Given the description of an element on the screen output the (x, y) to click on. 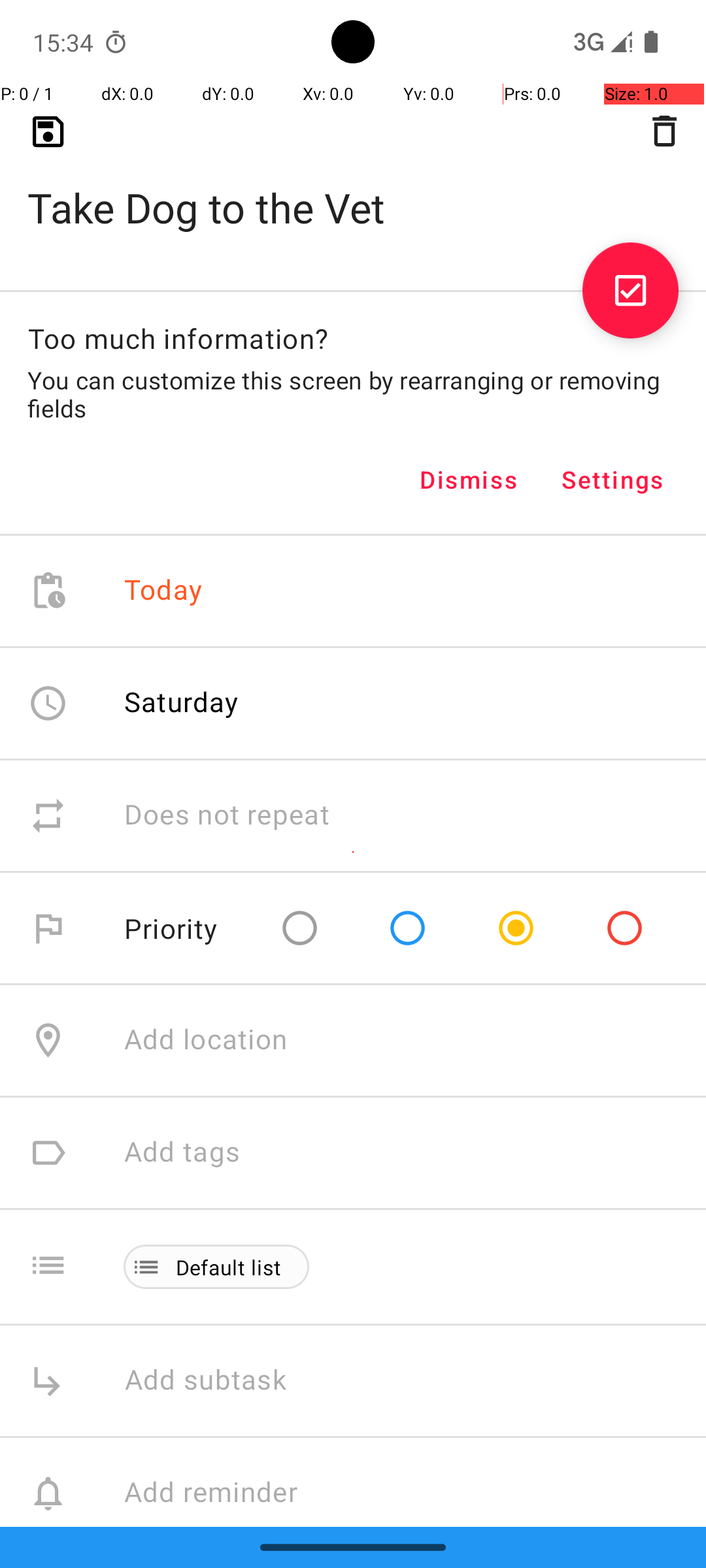
Saturday Element type: android.widget.TextView (181, 700)
